Given the description of an element on the screen output the (x, y) to click on. 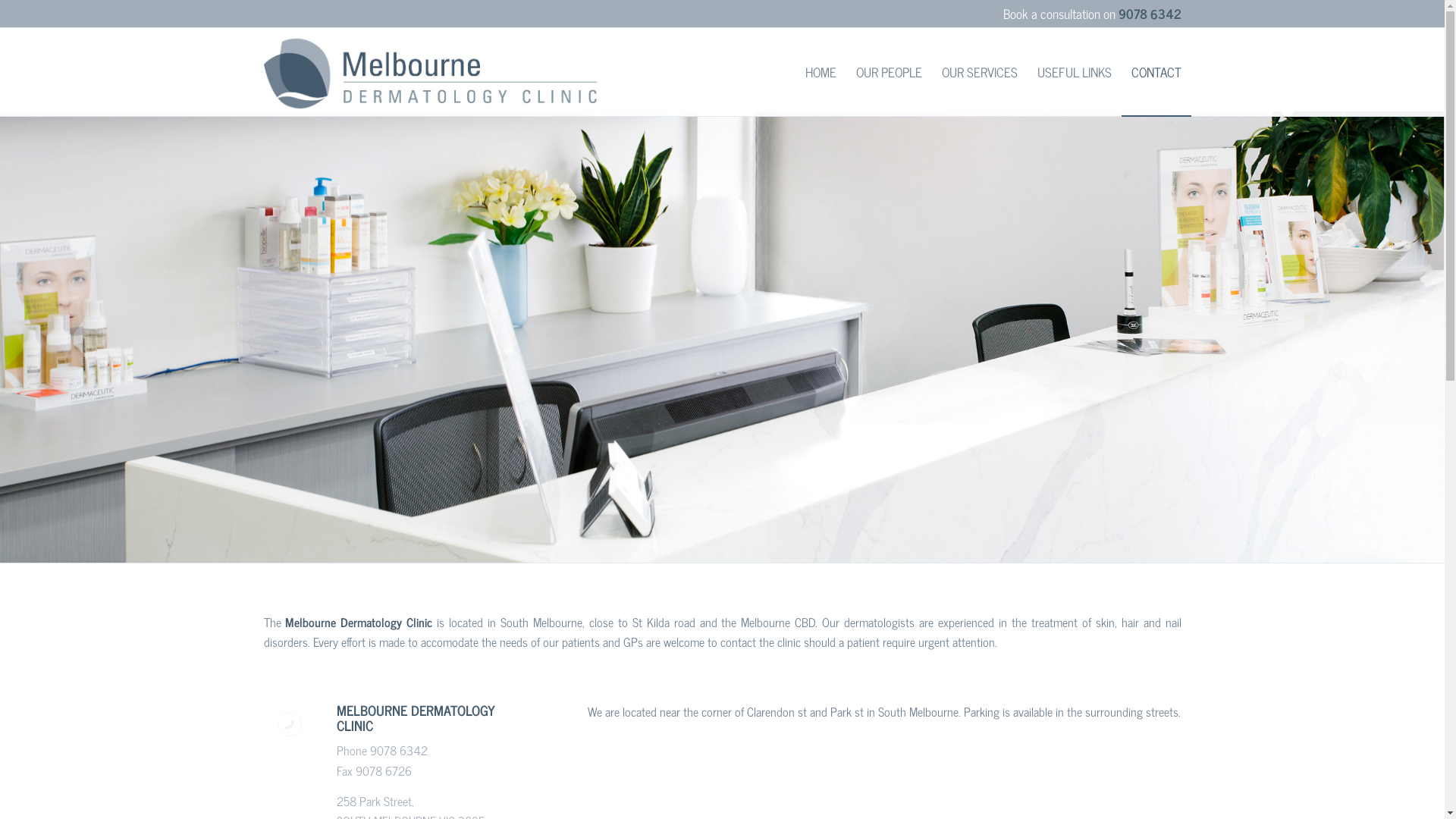
USEFUL LINKS Element type: text (1073, 72)
OUR SERVICES Element type: text (978, 72)
OUR PEOPLE Element type: text (888, 72)
CONTACT Element type: text (1150, 72)
Melbourne Reception Element type: hover (722, 336)
HOME Element type: text (819, 72)
